Given the description of an element on the screen output the (x, y) to click on. 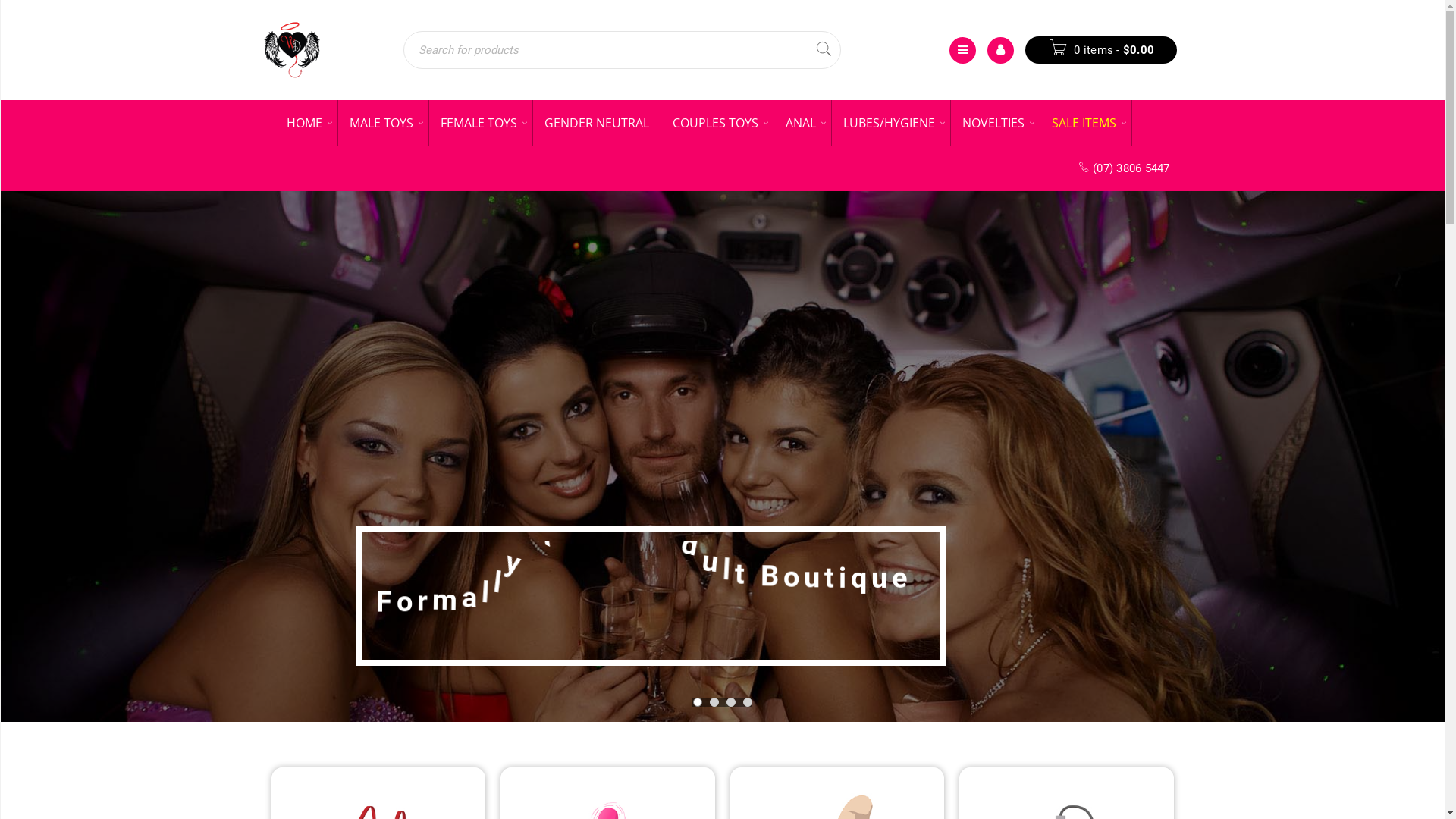
SALE ITEMS Element type: text (1085, 122)
MALE TOYS Element type: text (383, 122)
HOME Element type: text (305, 122)
GENDER NEUTRAL Element type: text (595, 122)
FEMALE TOYS Element type: text (480, 122)
COUPLES TOYS Element type: text (717, 122)
ANAL Element type: text (801, 122)
Search Element type: text (823, 49)
NOVELTIES Element type: text (994, 122)
(07) 3806 5447 Element type: text (1124, 168)
LUBES/HYGIENE Element type: text (890, 122)
Wicked Desires Element type: hover (291, 49)
0 items - $0.00 Element type: text (1101, 49)
